Given the description of an element on the screen output the (x, y) to click on. 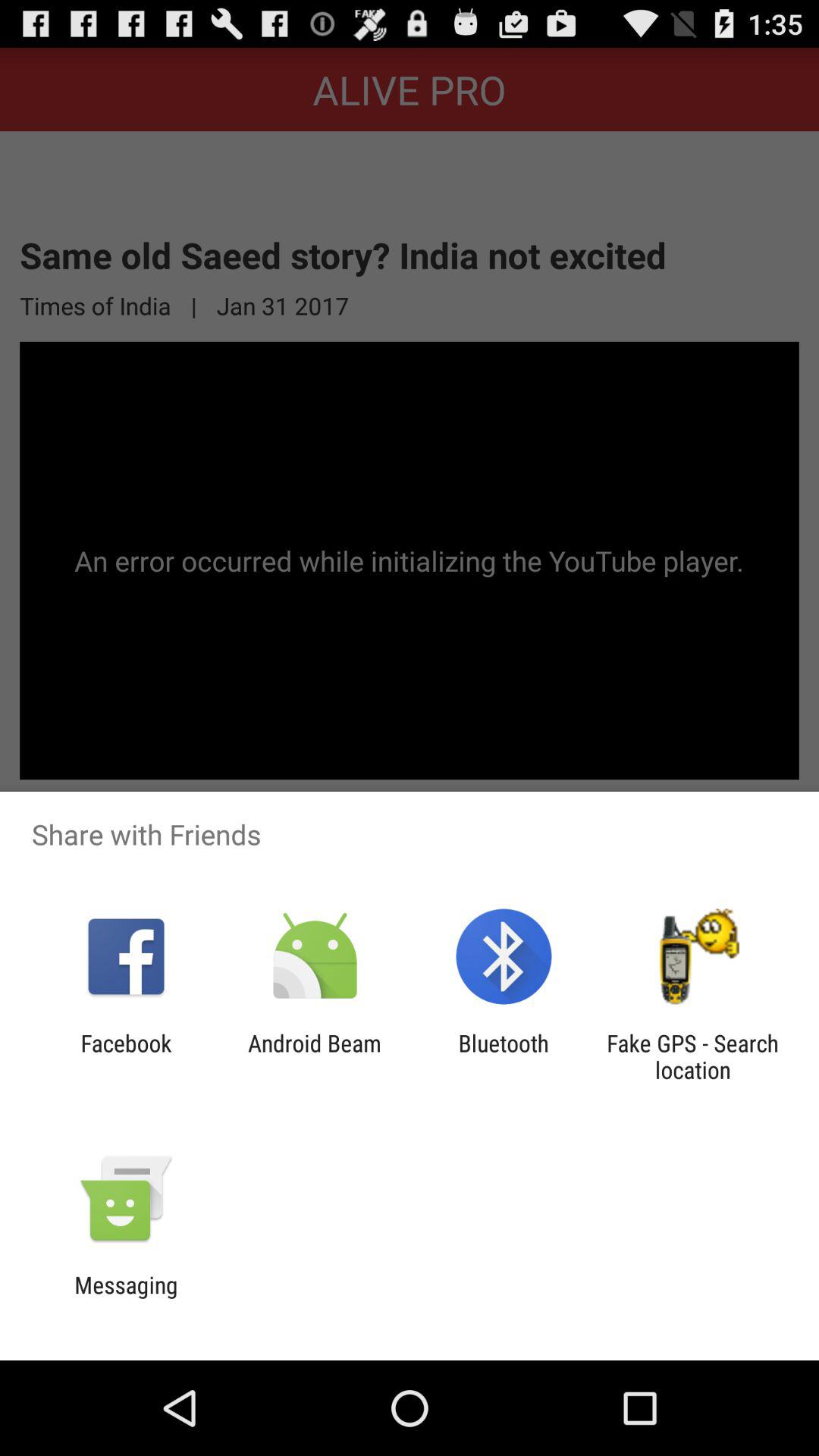
press the bluetooth icon (503, 1056)
